Given the description of an element on the screen output the (x, y) to click on. 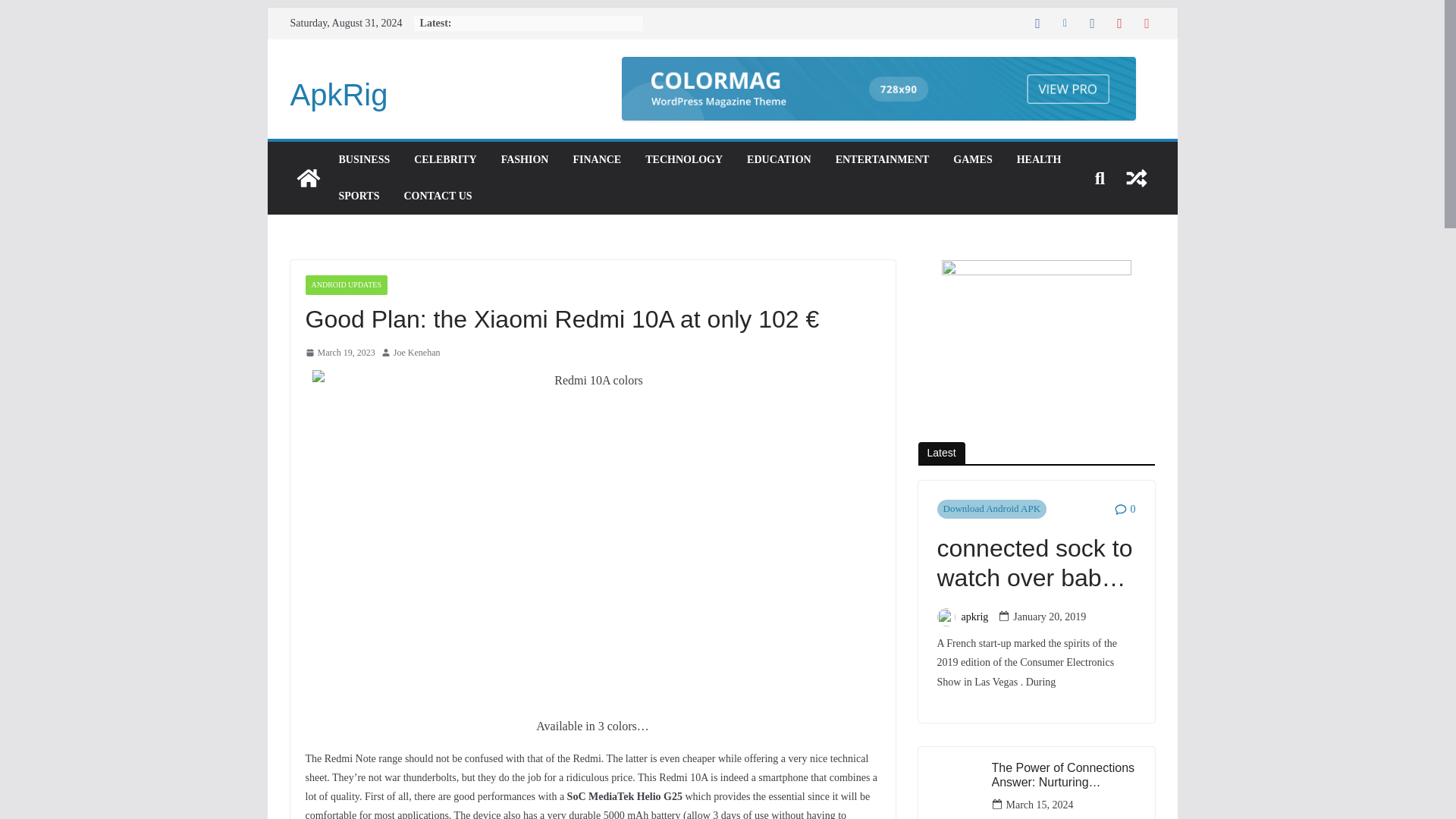
ENTERTAINMENT (882, 159)
ANDROID UPDATES (345, 284)
GAMES (972, 159)
View a random post (1136, 177)
HEALTH (1038, 159)
TECHNOLOGY (683, 159)
FASHION (524, 159)
ApkRig (307, 177)
SPORTS (357, 196)
6:54 am (339, 352)
